Given the description of an element on the screen output the (x, y) to click on. 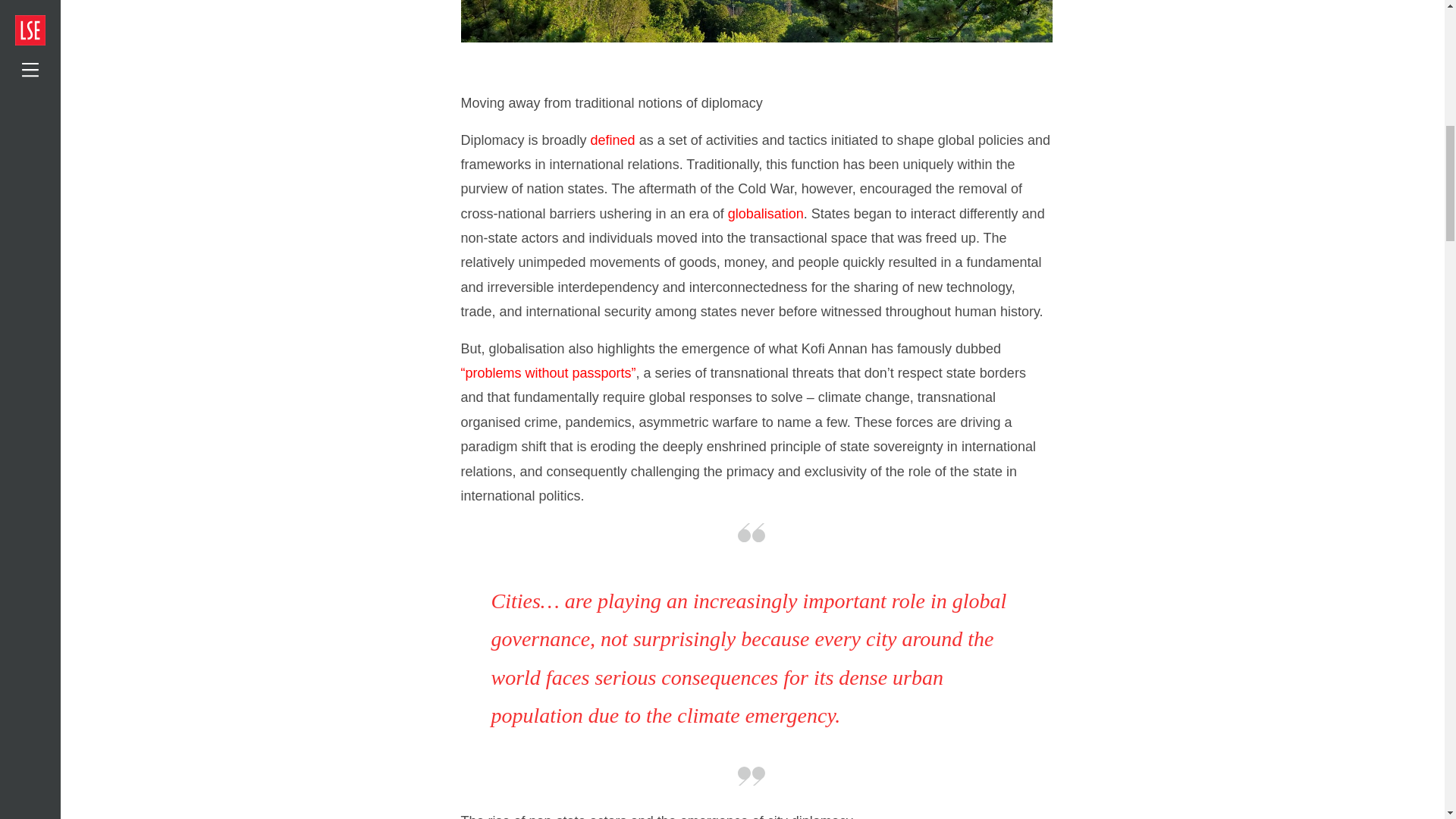
defined (612, 140)
globalisation (765, 213)
